Given the description of an element on the screen output the (x, y) to click on. 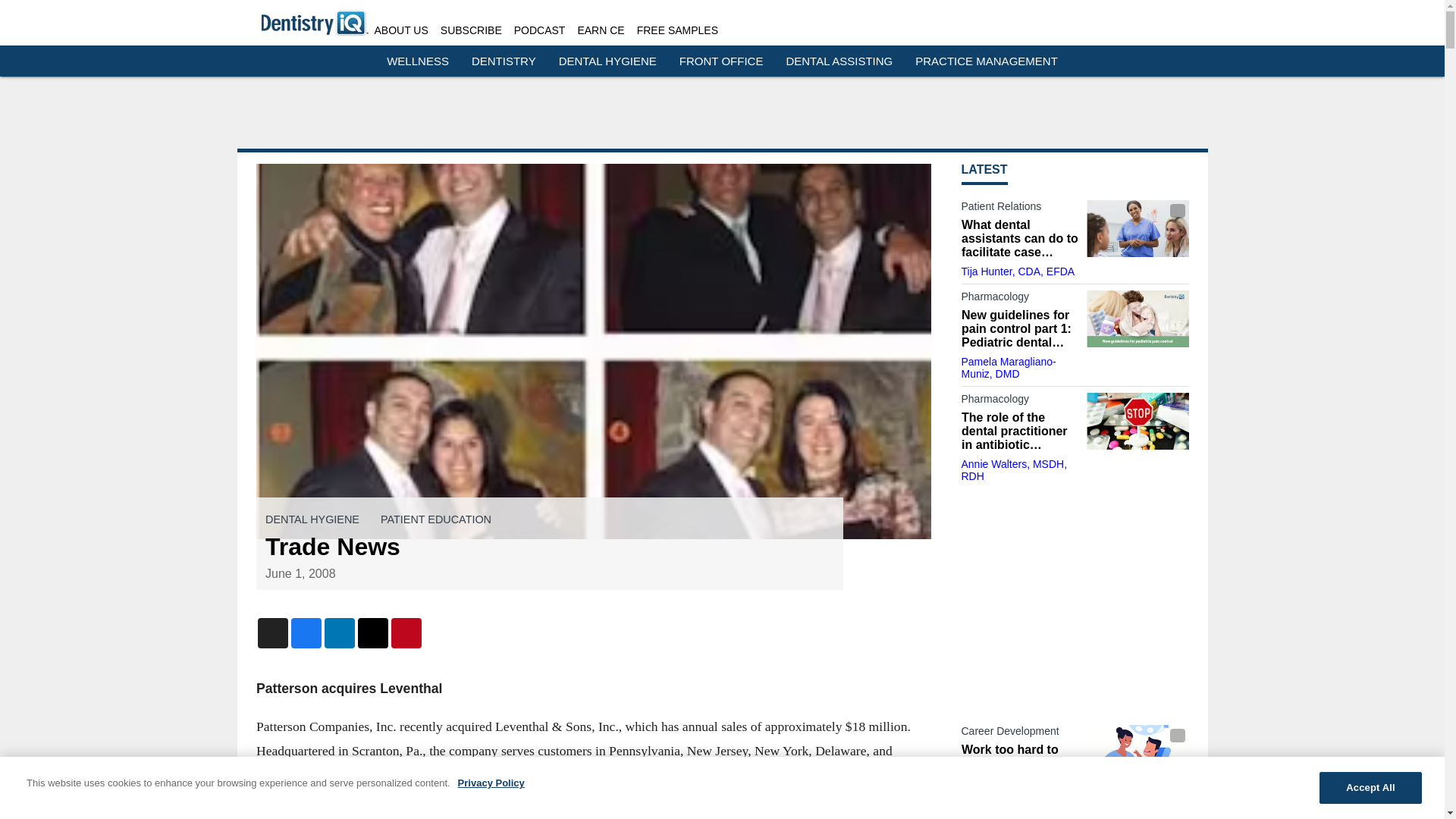
Annie Walters, MSDH, RDH (1013, 469)
Kirsten Brancheau, BA, RDH (1015, 802)
PRACTICE MANAGEMENT (986, 60)
PODCAST (539, 30)
DENTAL ASSISTING (839, 60)
WELLNESS (417, 60)
Pharmacology (1019, 402)
Tija Hunter, CDA, EFDA (1017, 271)
